Given the description of an element on the screen output the (x, y) to click on. 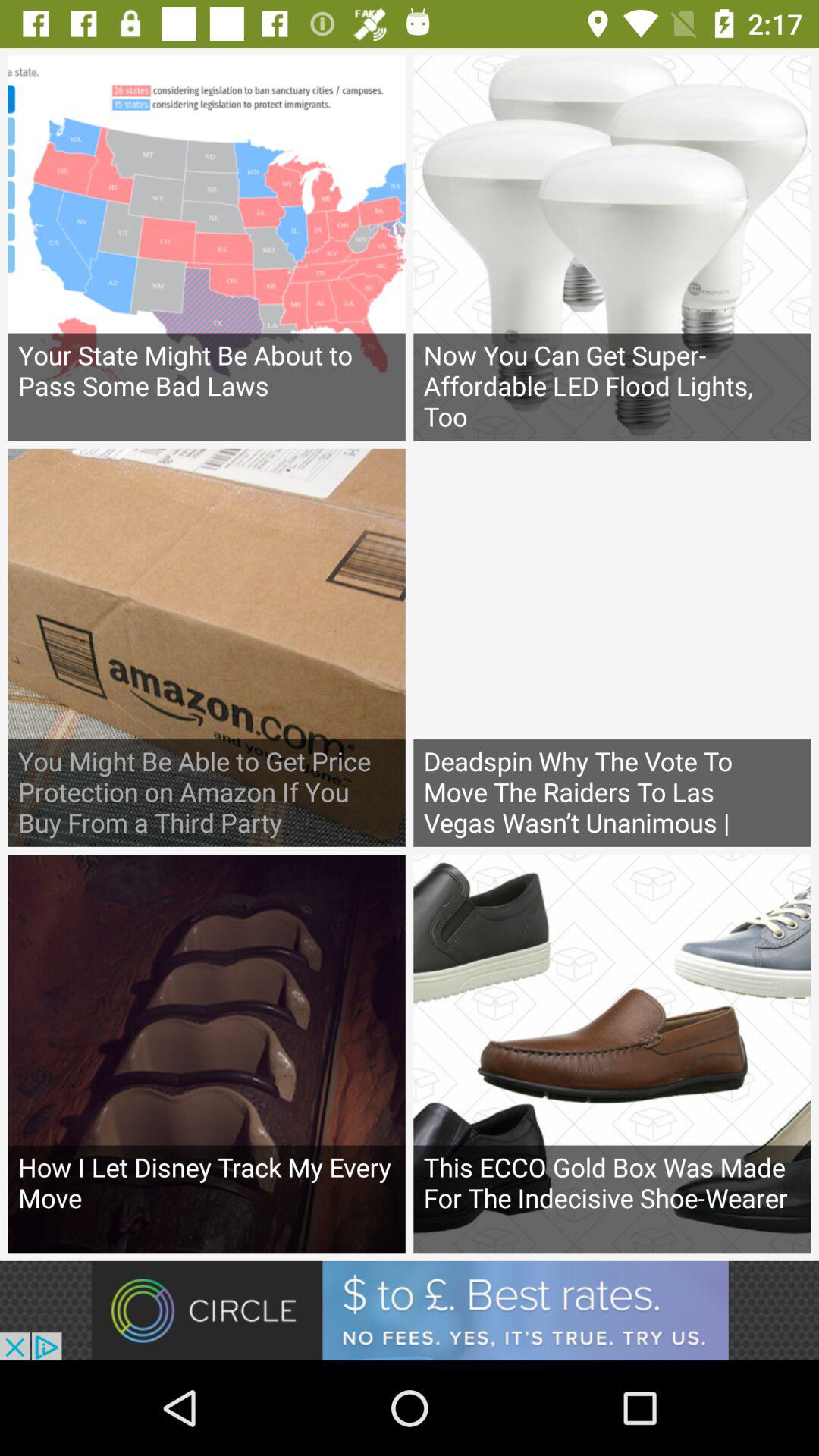
advertisement page (409, 1310)
